Given the description of an element on the screen output the (x, y) to click on. 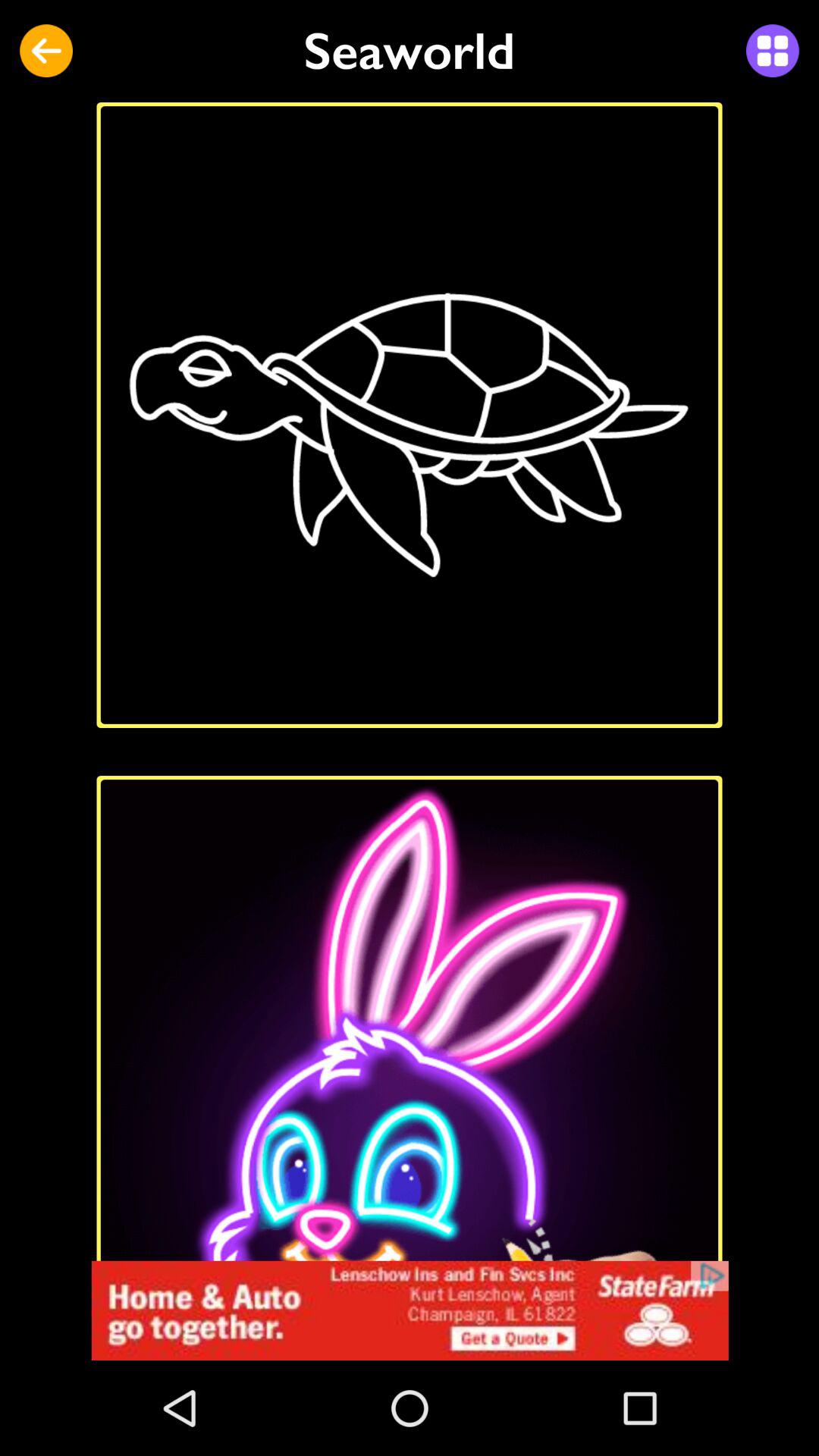
advertisement bar (409, 1310)
